Given the description of an element on the screen output the (x, y) to click on. 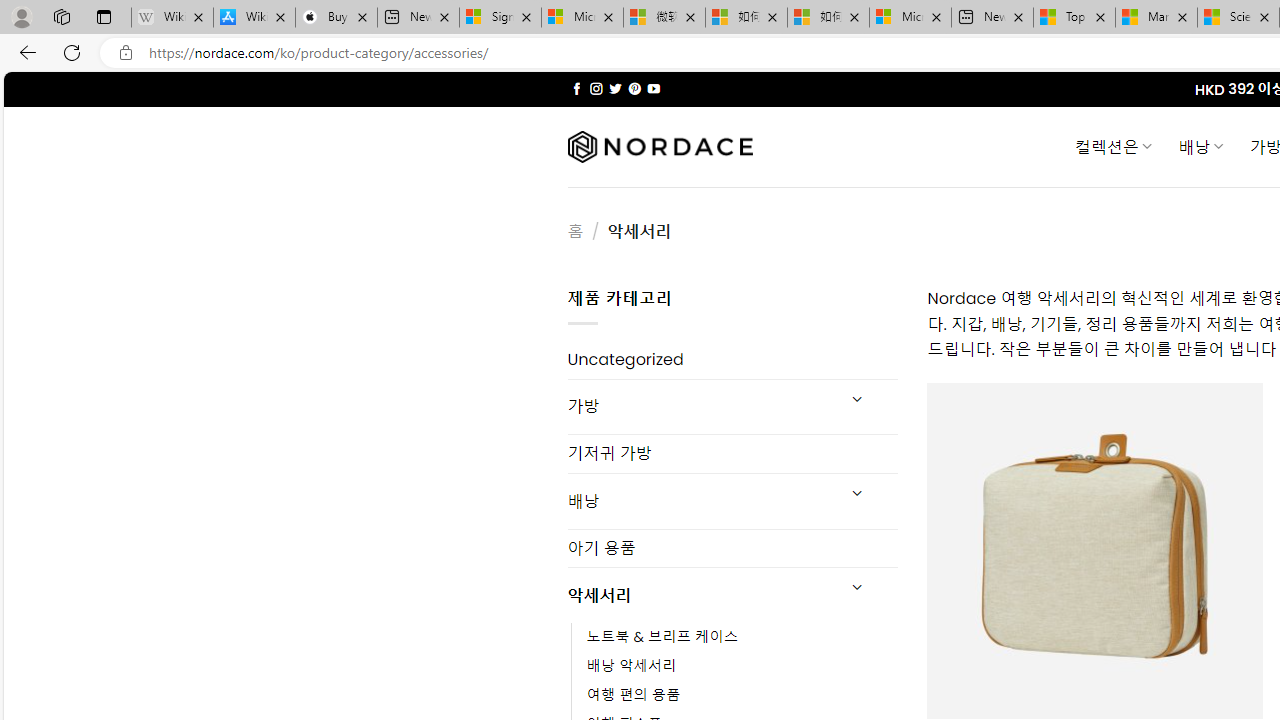
Uncategorized (732, 359)
Follow on YouTube (653, 88)
Marine life - MSN (1156, 17)
Buy iPad - Apple (336, 17)
Uncategorized (732, 359)
Microsoft account | Account Checkup (910, 17)
